Given the description of an element on the screen output the (x, y) to click on. 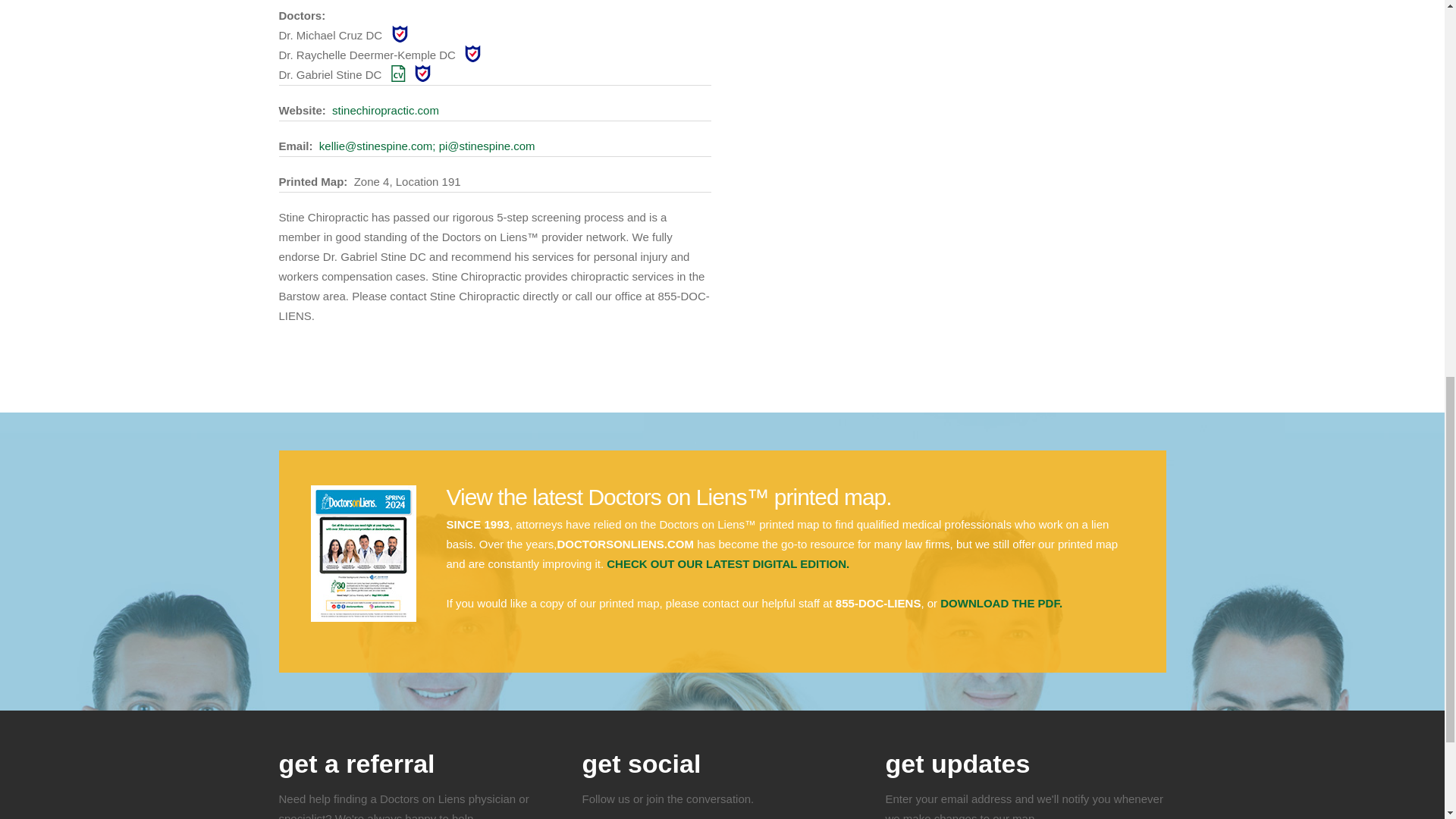
Twitter (637, 813)
YouTube (750, 813)
stinechiropractic.com (385, 110)
LinkedIn (712, 813)
CV for Dr. Gabriel Stine DC (398, 73)
Facebook (599, 813)
